Given the description of an element on the screen output the (x, y) to click on. 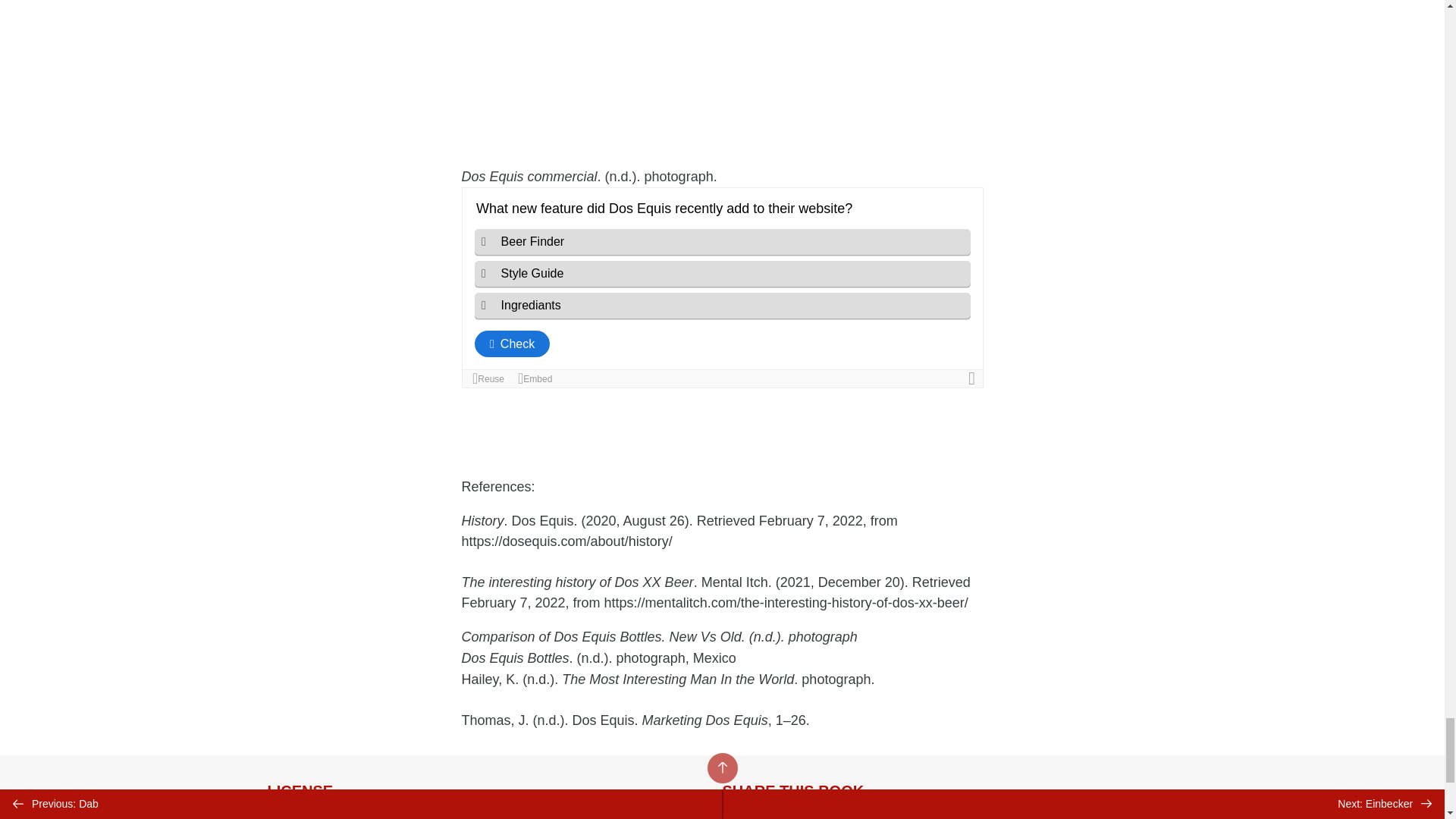
Knowledge Check (721, 287)
Share on Twitter (740, 816)
Share on Twitter (740, 816)
